Given the description of an element on the screen output the (x, y) to click on. 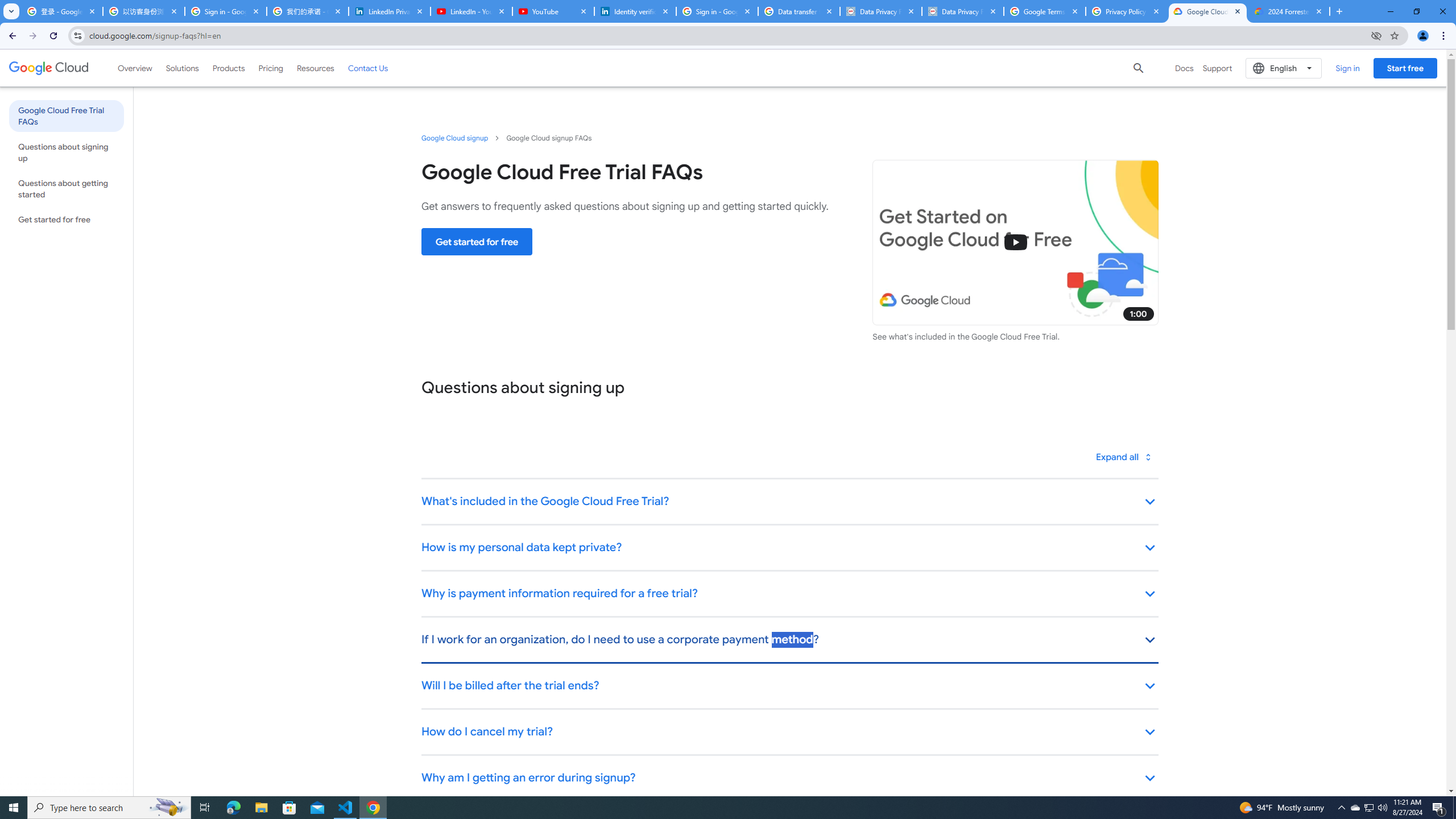
Questions about signing up (65, 152)
Will I be billed after the trial ends? keyboard_arrow_down (789, 686)
Google Cloud (48, 67)
Support (1216, 67)
Pricing (270, 67)
